Given the description of an element on the screen output the (x, y) to click on. 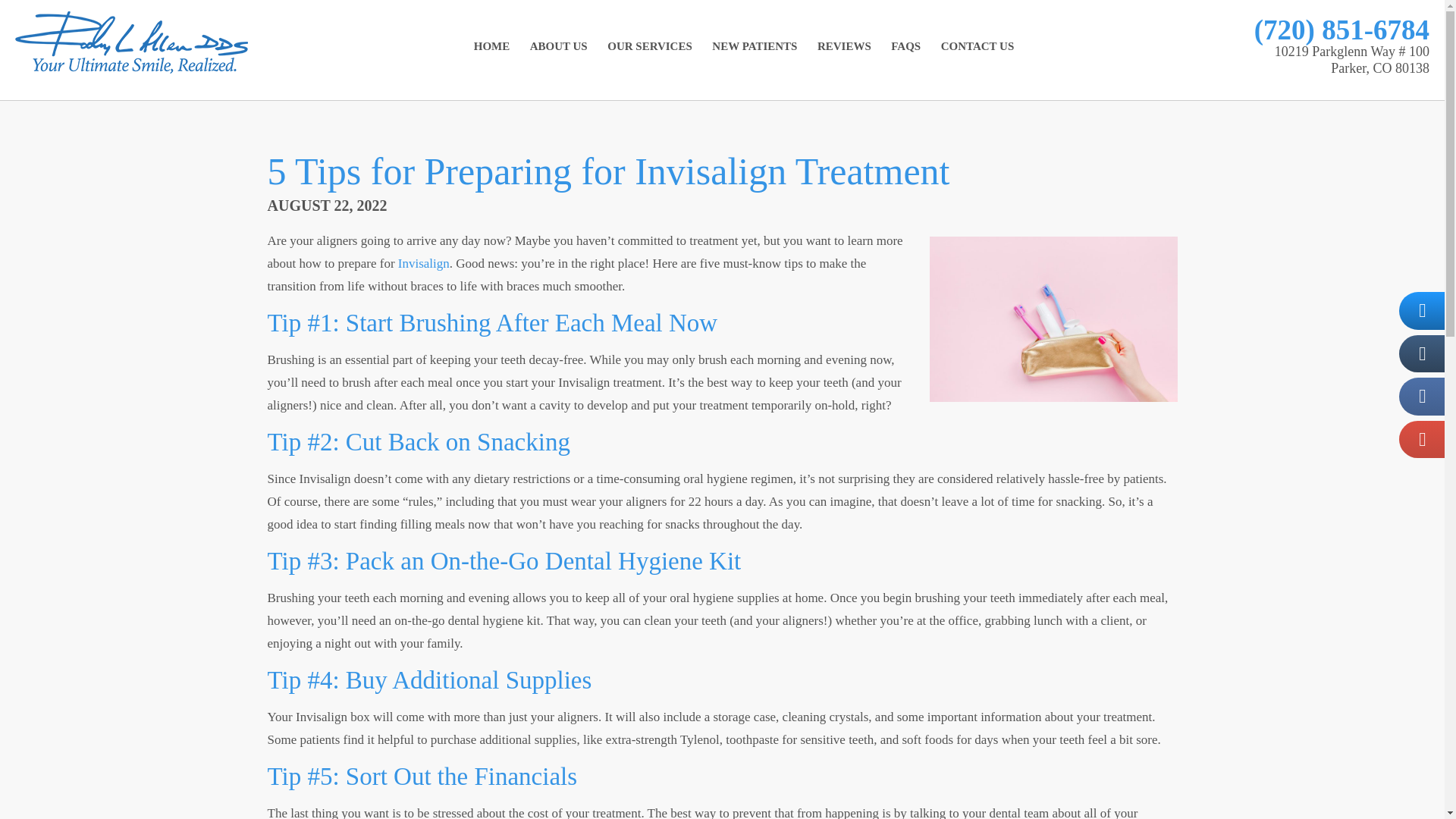
ABOUT US (558, 46)
NEW PATIENTS (754, 46)
HOME (491, 46)
OUR SERVICES (649, 46)
